Given the description of an element on the screen output the (x, y) to click on. 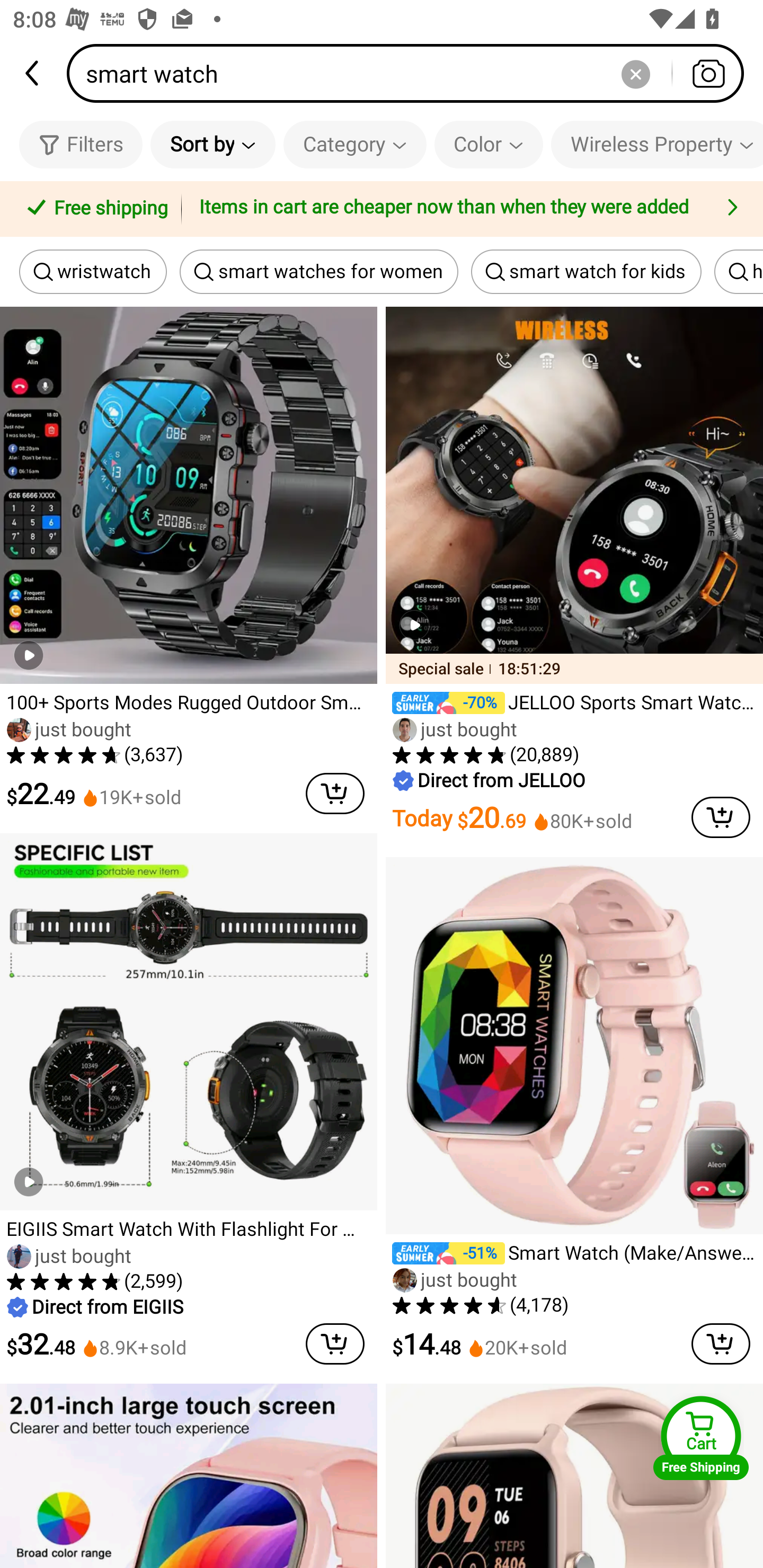
back (33, 72)
smart watch (411, 73)
Delete search history (635, 73)
Search by photo (708, 73)
Filters (80, 143)
Sort by (212, 143)
Category (354, 143)
Color (488, 143)
Wireless Property (656, 143)
 Free shipping (93, 208)
wristwatch (93, 271)
smart watches for women (318, 271)
smart watch for kids (585, 271)
cart delete (334, 793)
cart delete (720, 816)
cart delete (334, 1343)
cart delete (720, 1343)
Cart Free Shipping Cart (701, 1437)
